Given the description of an element on the screen output the (x, y) to click on. 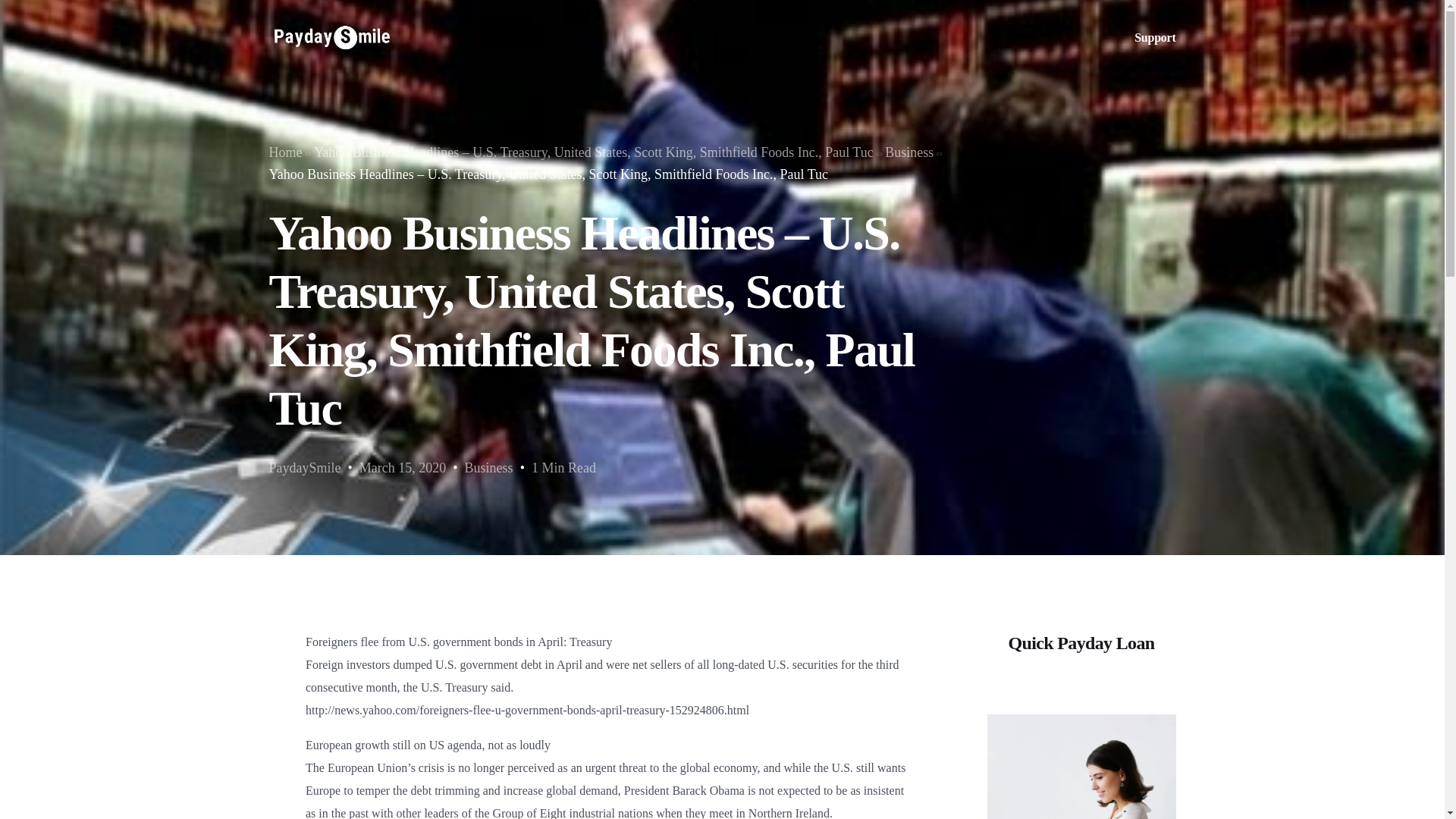
Support (1154, 37)
PaydaySmile (303, 467)
Business (488, 467)
Home (284, 151)
Business (909, 151)
